Given the description of an element on the screen output the (x, y) to click on. 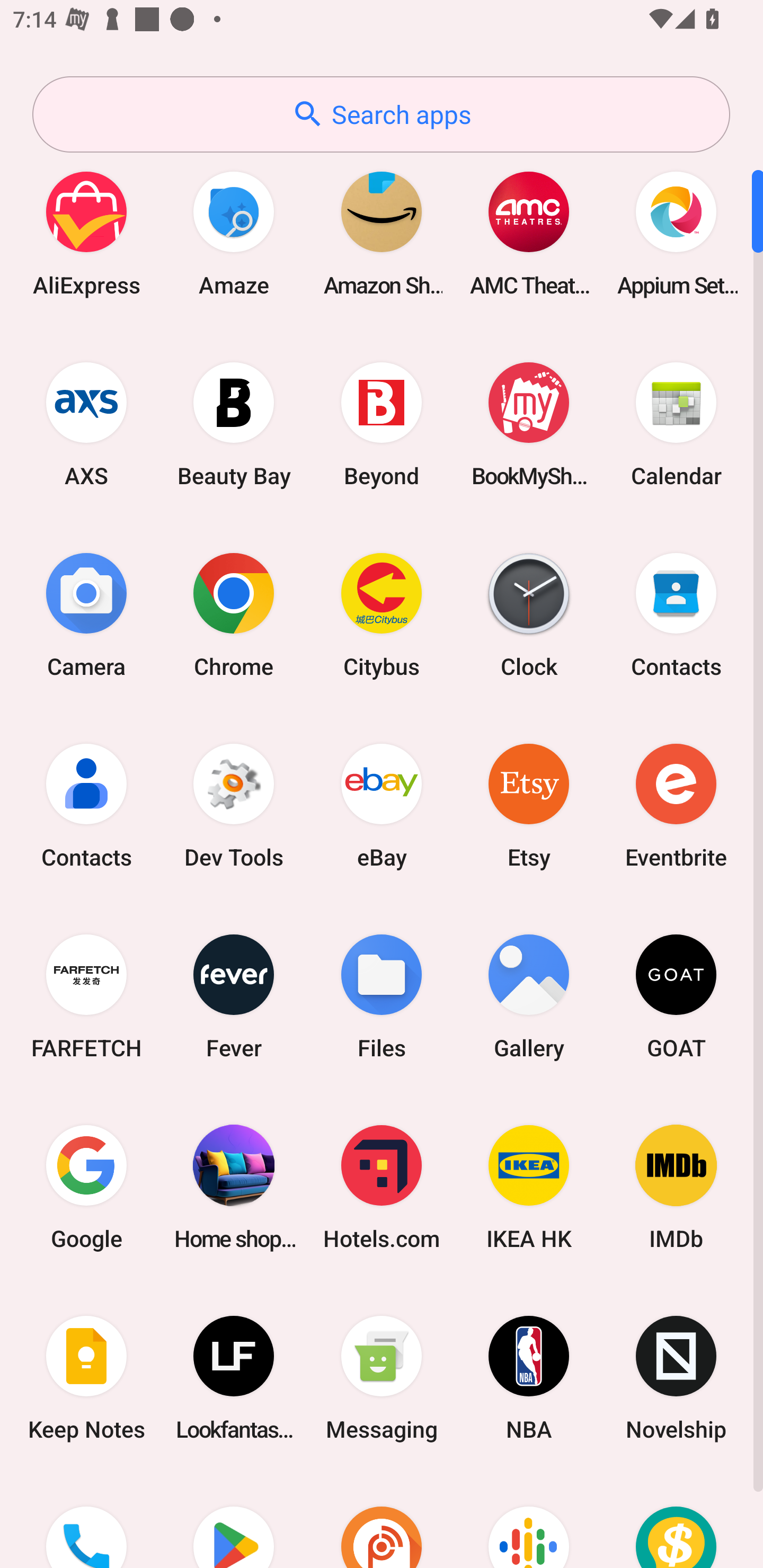
  Search apps (381, 114)
AliExpress (86, 233)
Amaze (233, 233)
Amazon Shopping (381, 233)
AMC Theatres (528, 233)
Appium Settings (676, 233)
AXS (86, 424)
Beauty Bay (233, 424)
Beyond (381, 424)
BookMyShow (528, 424)
Calendar (676, 424)
Camera (86, 614)
Chrome (233, 614)
Citybus (381, 614)
Clock (528, 614)
Contacts (676, 614)
Contacts (86, 805)
Dev Tools (233, 805)
eBay (381, 805)
Etsy (528, 805)
Eventbrite (676, 805)
FARFETCH (86, 996)
Fever (233, 996)
Files (381, 996)
Gallery (528, 996)
GOAT (676, 996)
Google (86, 1186)
Home shopping (233, 1186)
Hotels.com (381, 1186)
IKEA HK (528, 1186)
IMDb (676, 1186)
Keep Notes (86, 1377)
Lookfantastic (233, 1377)
Messaging (381, 1377)
NBA (528, 1377)
Novelship (676, 1377)
Phone (86, 1520)
Play Store (233, 1520)
Podcast Addict (381, 1520)
Podcasts (528, 1520)
Price (676, 1520)
